Given the description of an element on the screen output the (x, y) to click on. 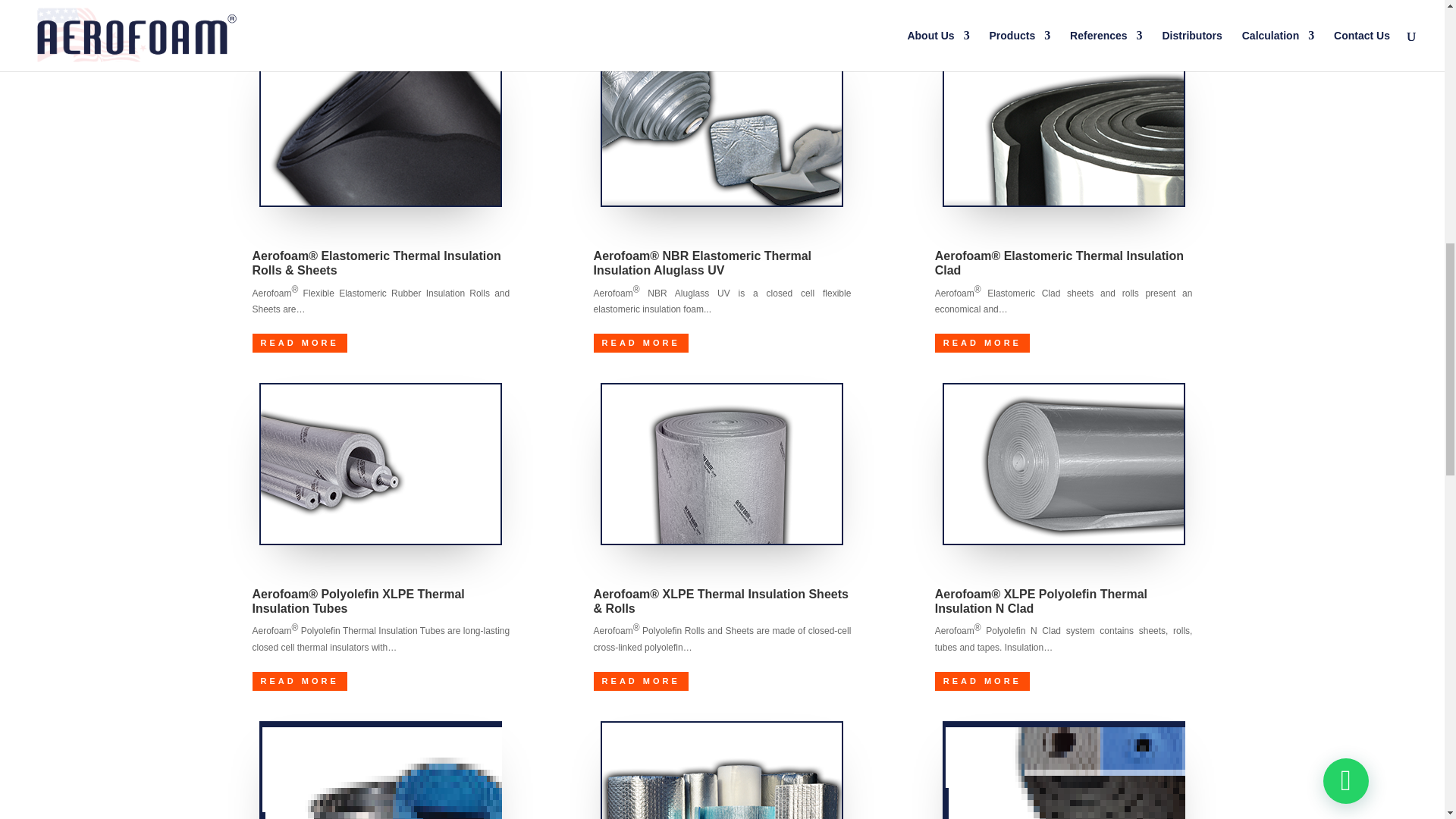
Aerofoam NBR Aluglass UV (721, 126)
Aerofoam XLPE N Clad (1063, 464)
Aerofoam NBR Clad (1063, 126)
AeroSound Acoustic Foam (380, 770)
Aerofoam Engineered Foams (1063, 770)
Aeroreflect Reflective Insulations (721, 770)
Aerofoam XLPE Tubes (380, 464)
